Given the description of an element on the screen output the (x, y) to click on. 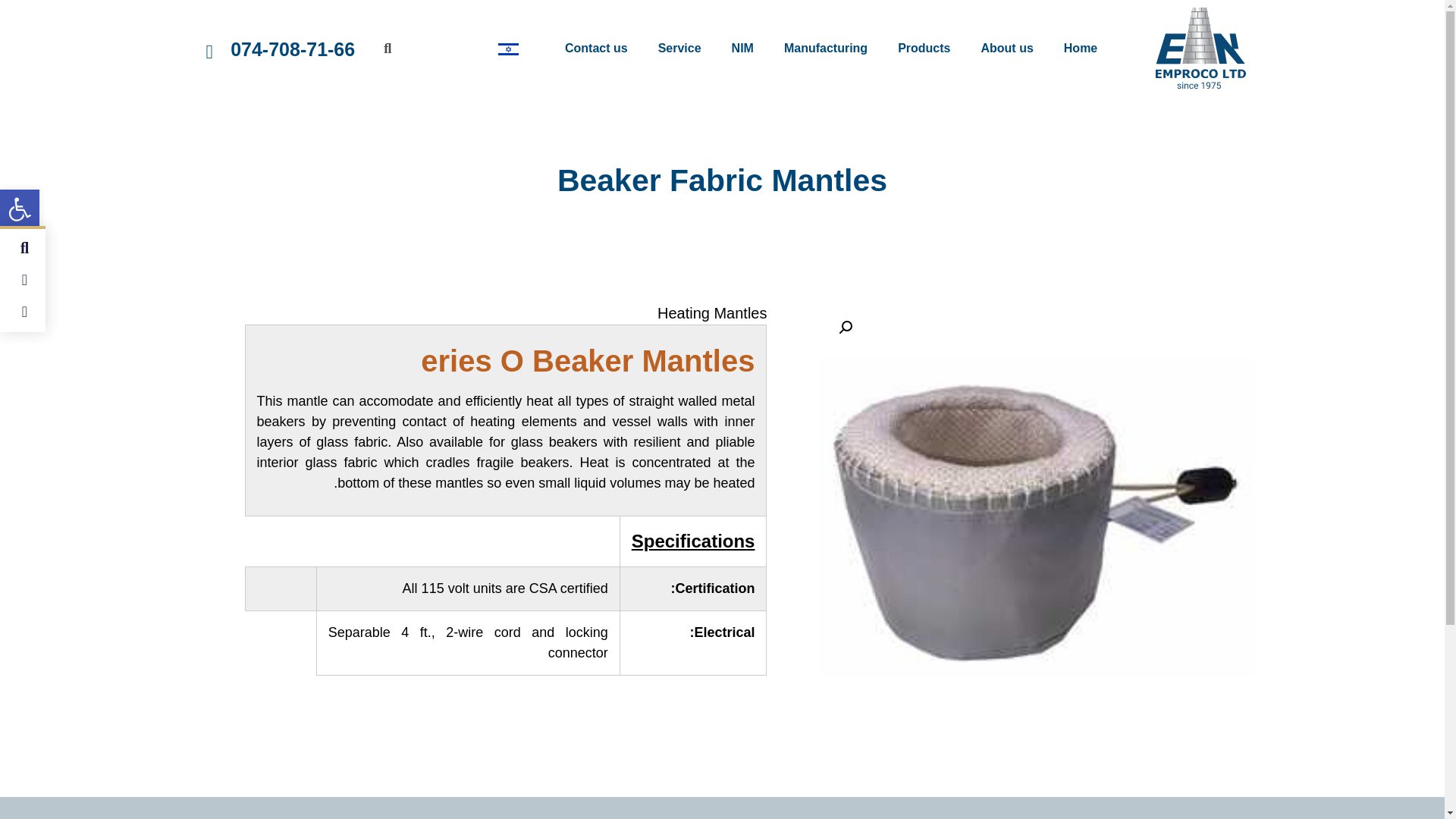
Products (923, 48)
Manufacturing (825, 48)
About us (1006, 48)
Contact us (596, 48)
NIM (742, 48)
074-708-71-66 (292, 47)
Service (679, 48)
Home (1080, 48)
